Given the description of an element on the screen output the (x, y) to click on. 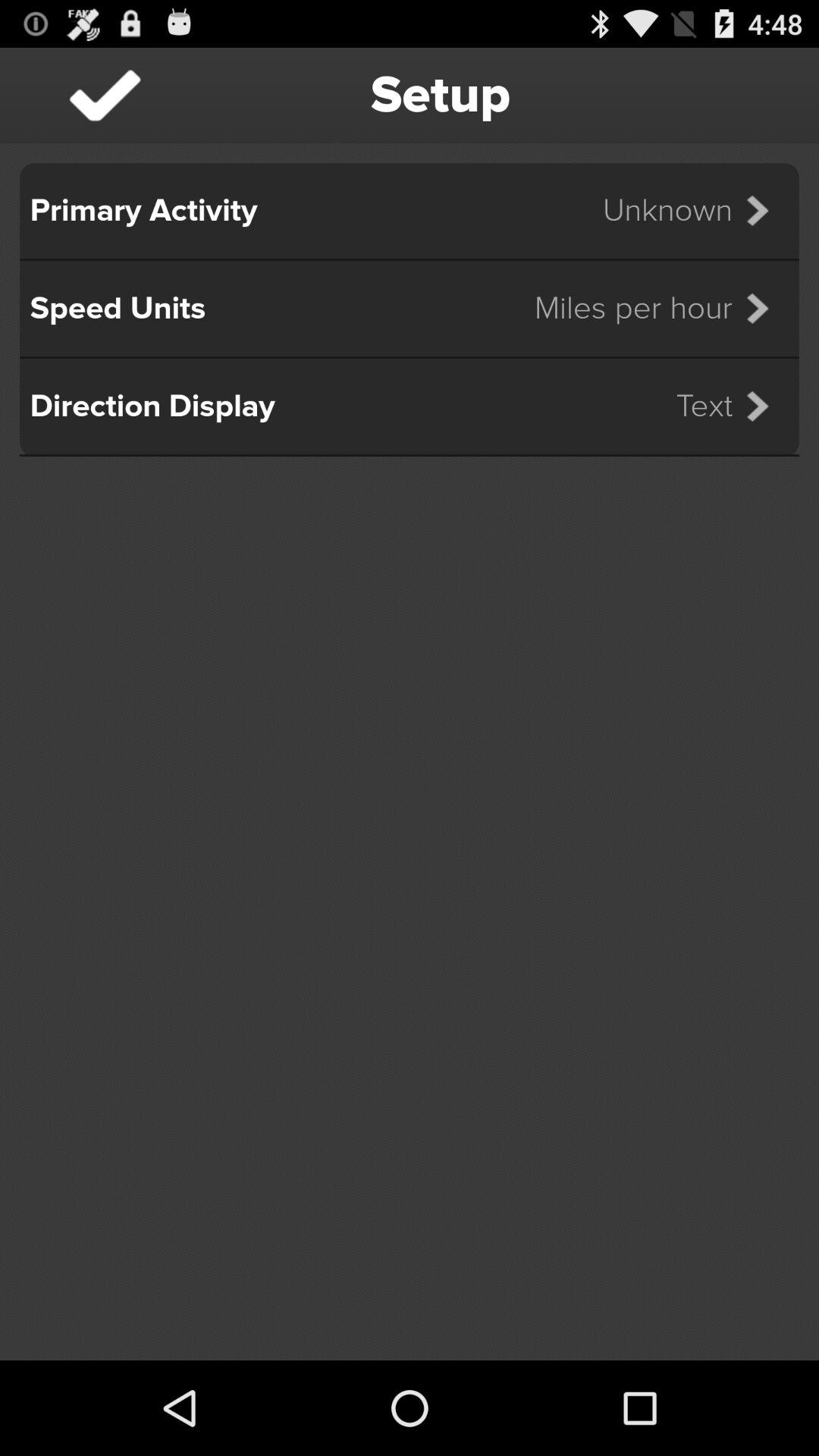
turn on icon at the top left corner (104, 95)
